Given the description of an element on the screen output the (x, y) to click on. 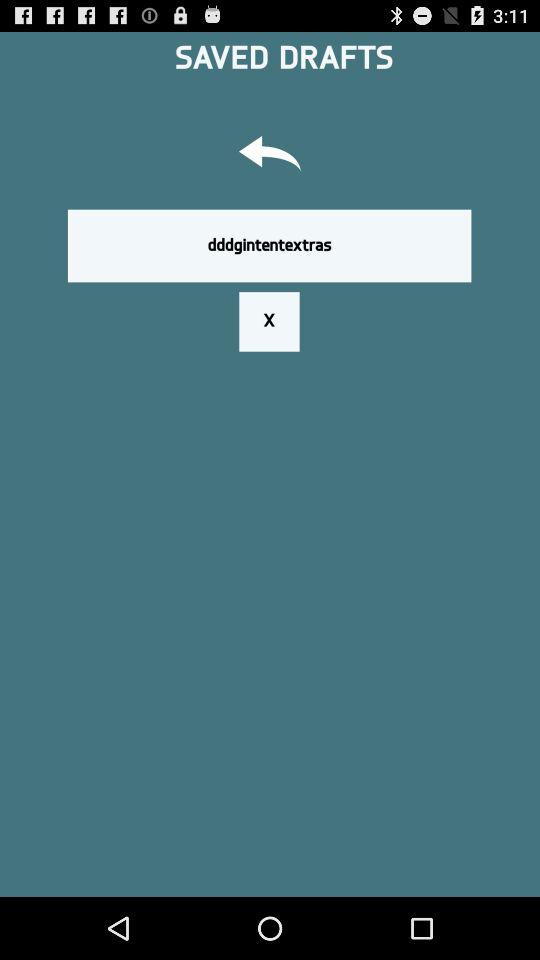
turn off button below dddgintentextras item (269, 321)
